Given the description of an element on the screen output the (x, y) to click on. 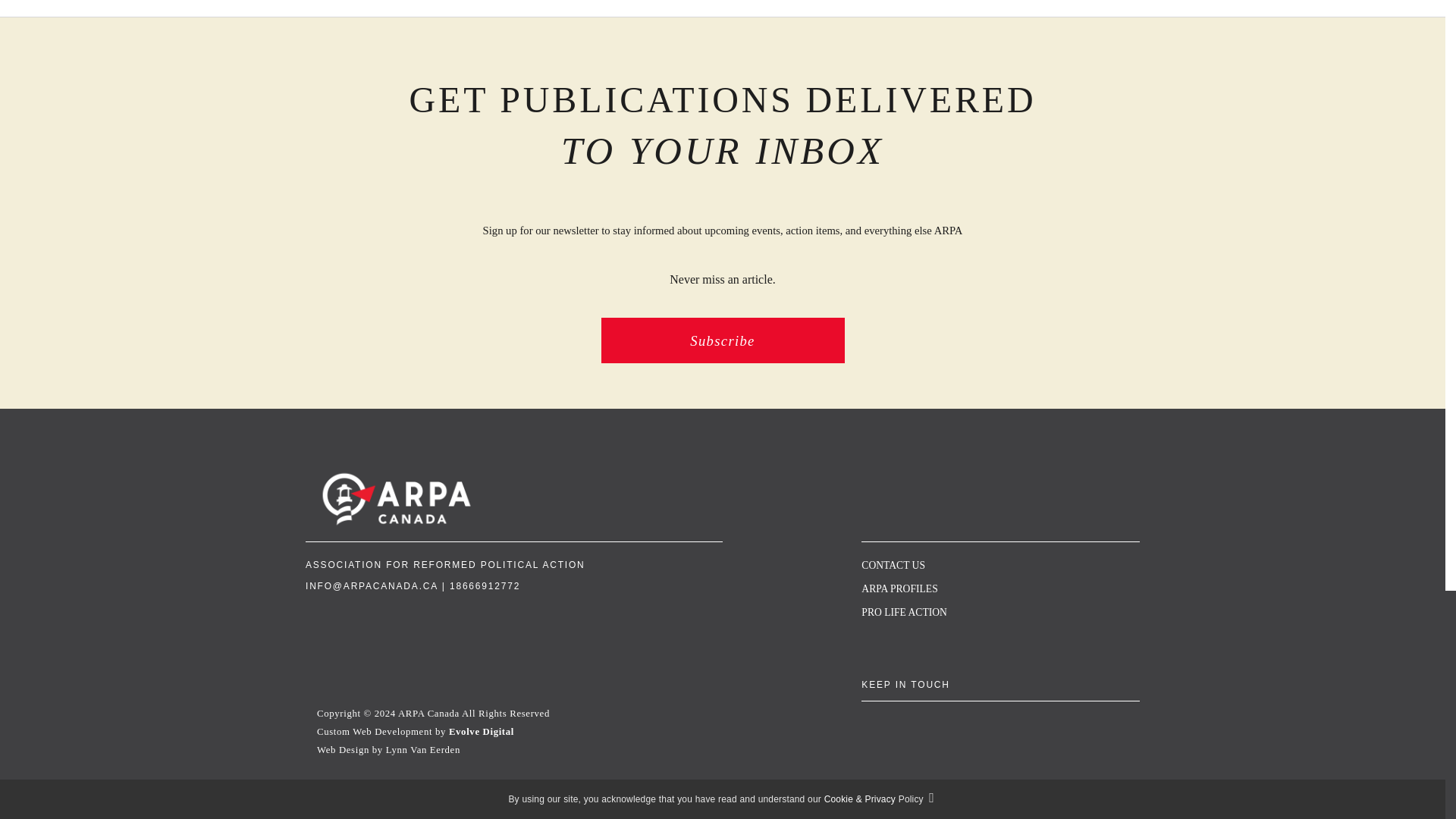
18666912772 (484, 585)
PRO LIFE ACTION (904, 612)
Subscribe (721, 340)
CONTACT US (892, 564)
ARPA PROFILES (899, 588)
